Given the description of an element on the screen output the (x, y) to click on. 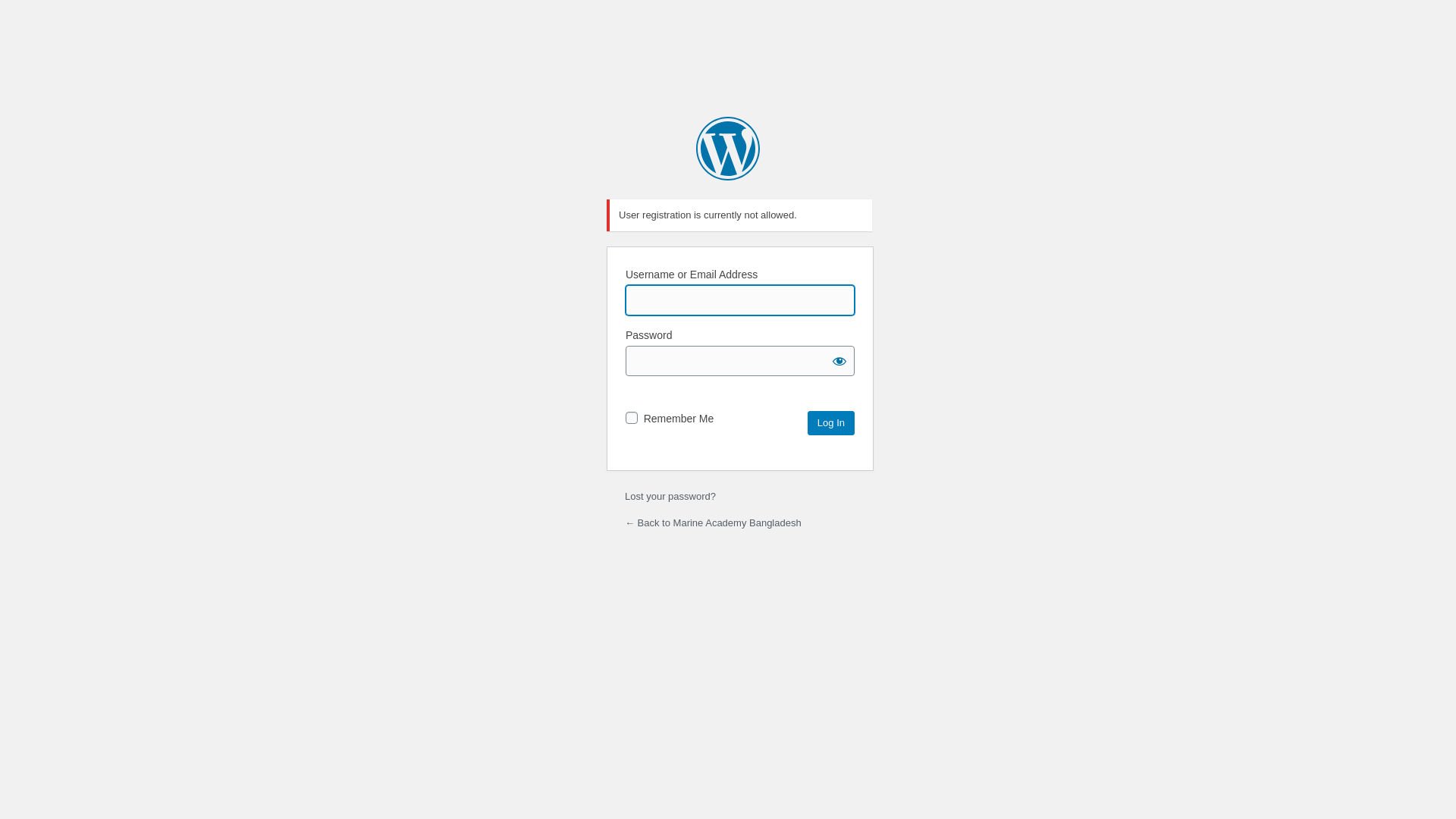
Log In Element type: text (830, 423)
Lost your password? Element type: text (669, 496)
Powered by WordPress Element type: text (727, 148)
